Given the description of an element on the screen output the (x, y) to click on. 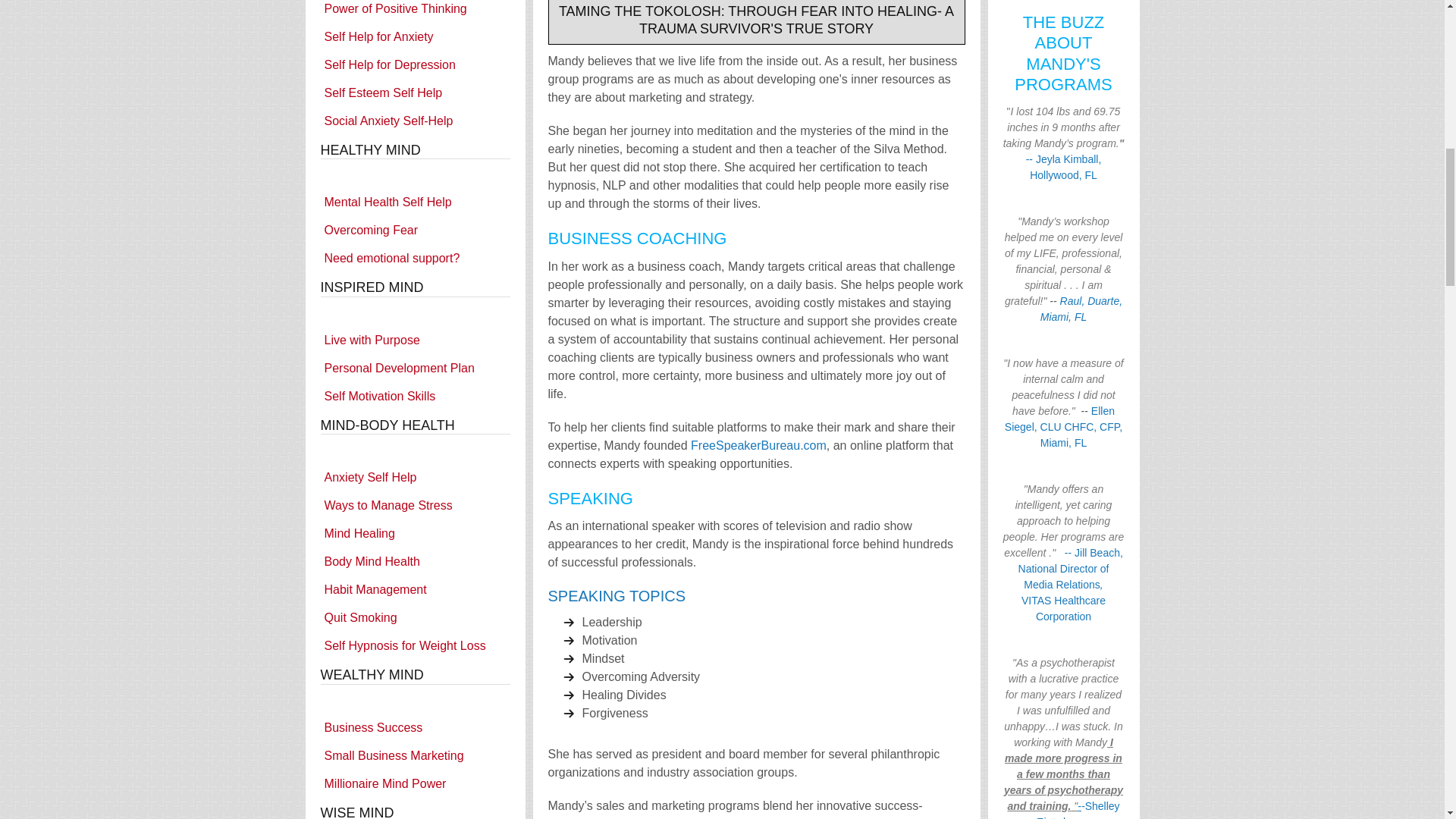
Body Mind Health (414, 561)
FreeSpeakerBureau.com (758, 445)
Ways to Manage Stress (414, 505)
Self Help for Depression (414, 63)
Mind Healing (414, 533)
Self Help for Anxiety (414, 36)
Live with Purpose (414, 339)
Power of Positive Thinking (414, 10)
Self Motivation Skills (414, 396)
Overcoming Fear (414, 230)
Social Anxiety Self-Help (414, 120)
Mental Health Self Help (414, 202)
Anxiety Self Help (414, 477)
Habit Management (414, 589)
Need emotional support? (414, 258)
